Given the description of an element on the screen output the (x, y) to click on. 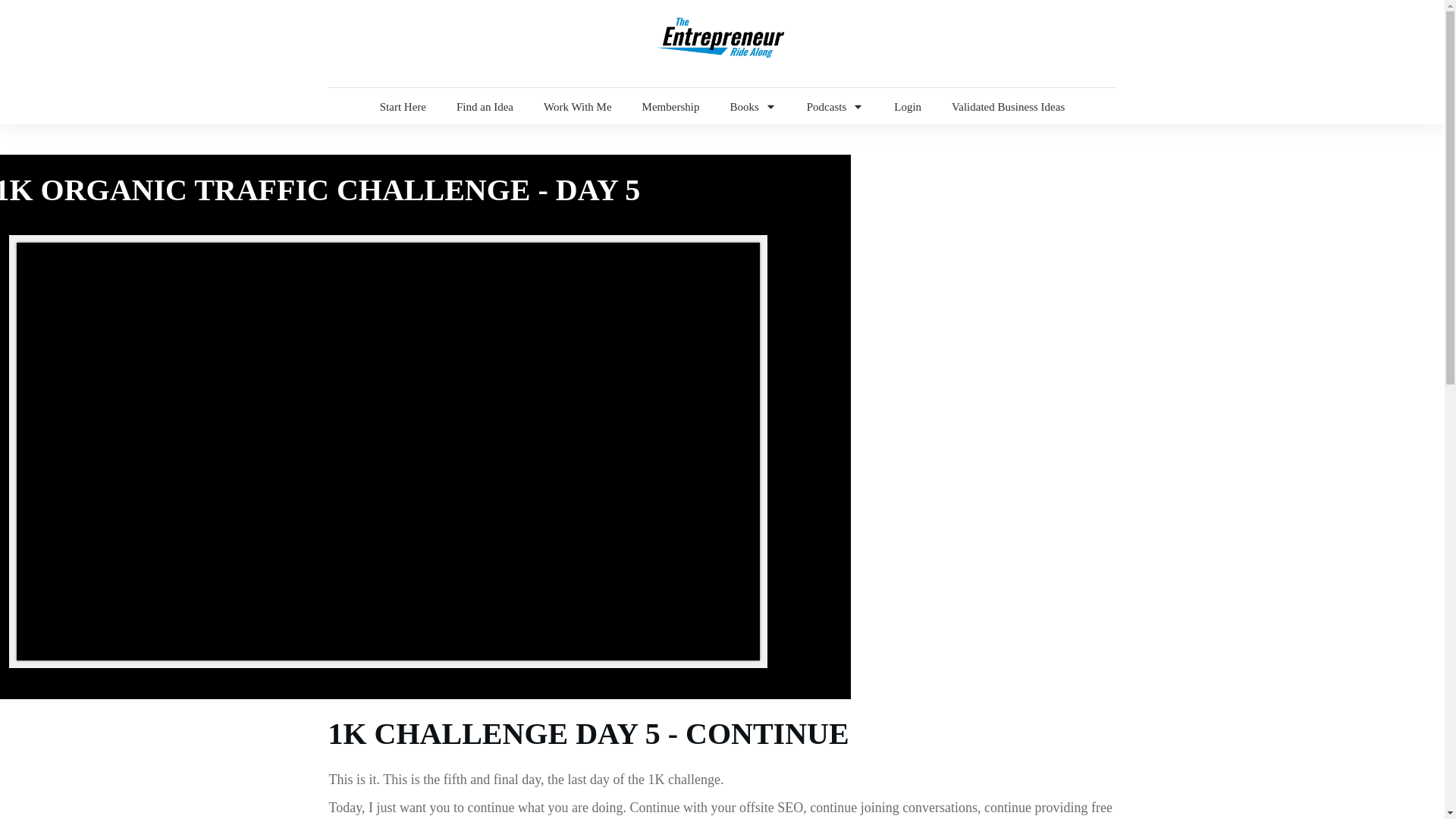
Validated Business Ideas (1008, 106)
Find an Idea (485, 106)
Membership (671, 106)
Books (752, 106)
Podcasts (835, 106)
Work With Me (577, 106)
Start Here (403, 106)
Login (907, 106)
